Given the description of an element on the screen output the (x, y) to click on. 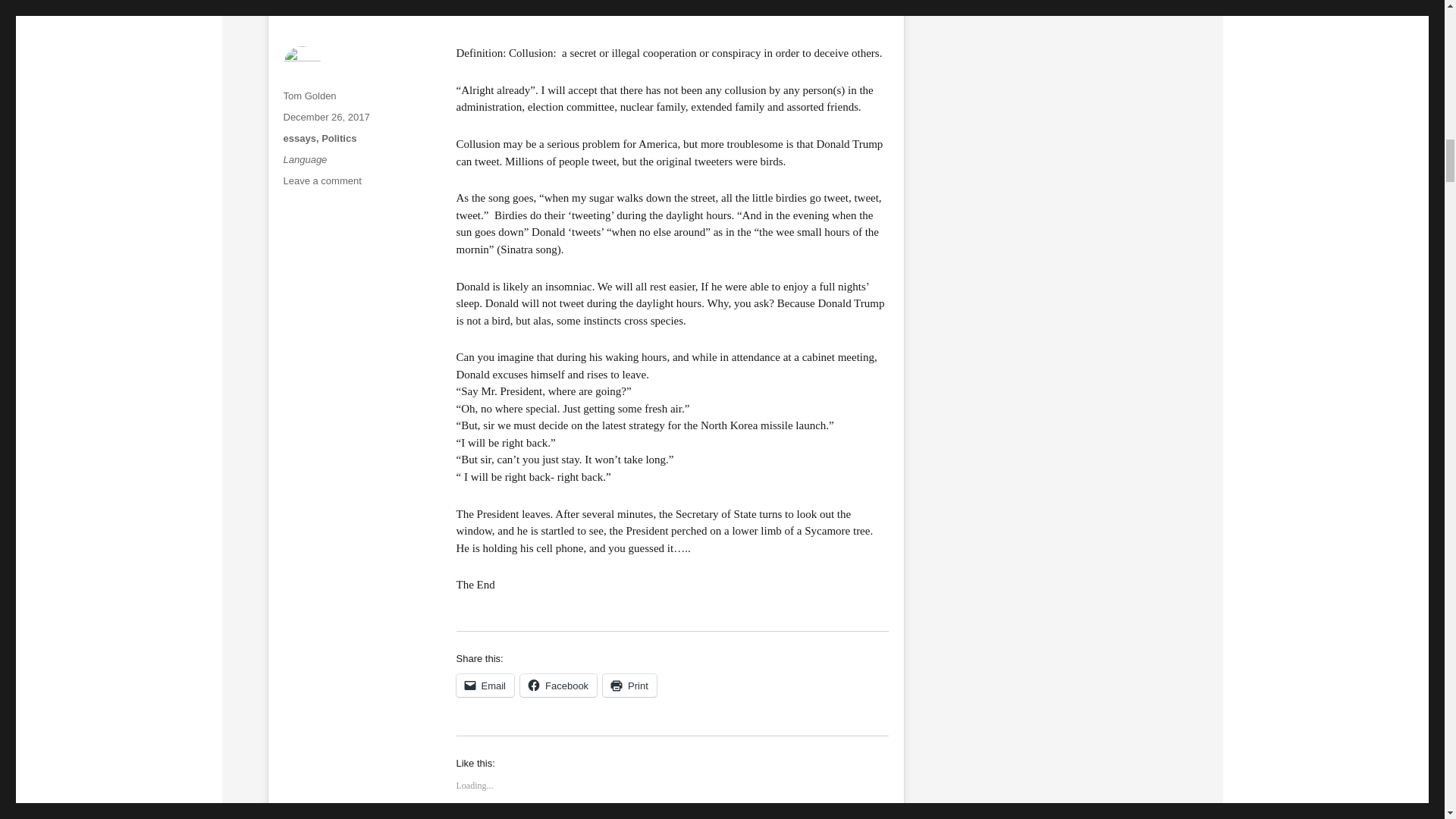
Click to share on Facebook (557, 685)
Click to email a link to a friend (486, 685)
Click to print (629, 685)
